Given the description of an element on the screen output the (x, y) to click on. 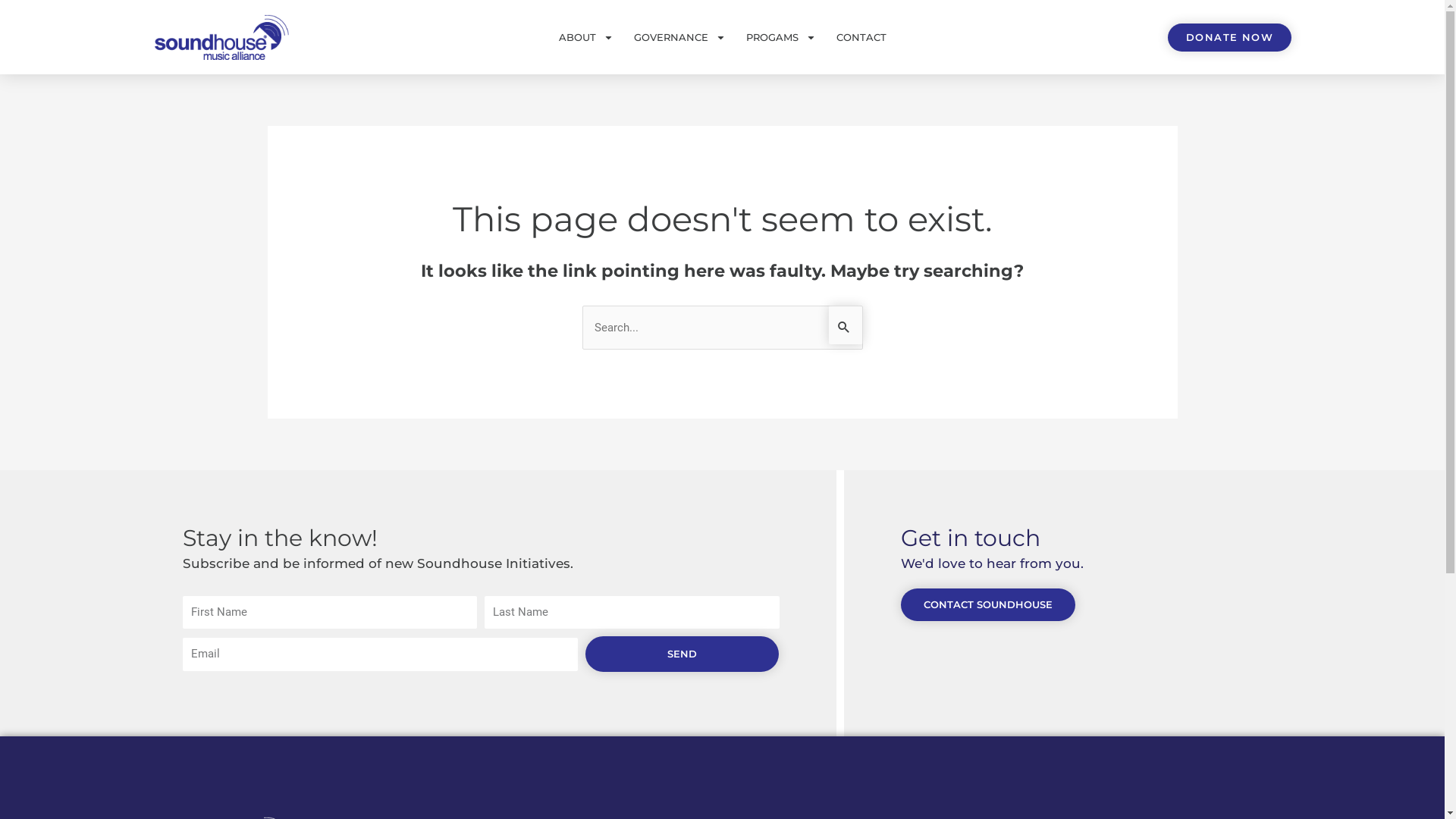
SEND Element type: text (682, 653)
CONTACT SOUNDHOUSE Element type: text (987, 604)
ABOUT Element type: text (585, 36)
Search Element type: text (845, 324)
GOVERNANCE Element type: text (679, 36)
PROGAMS Element type: text (780, 36)
CONTACT Element type: text (860, 36)
DONATE NOW Element type: text (1229, 37)
